Given the description of an element on the screen output the (x, y) to click on. 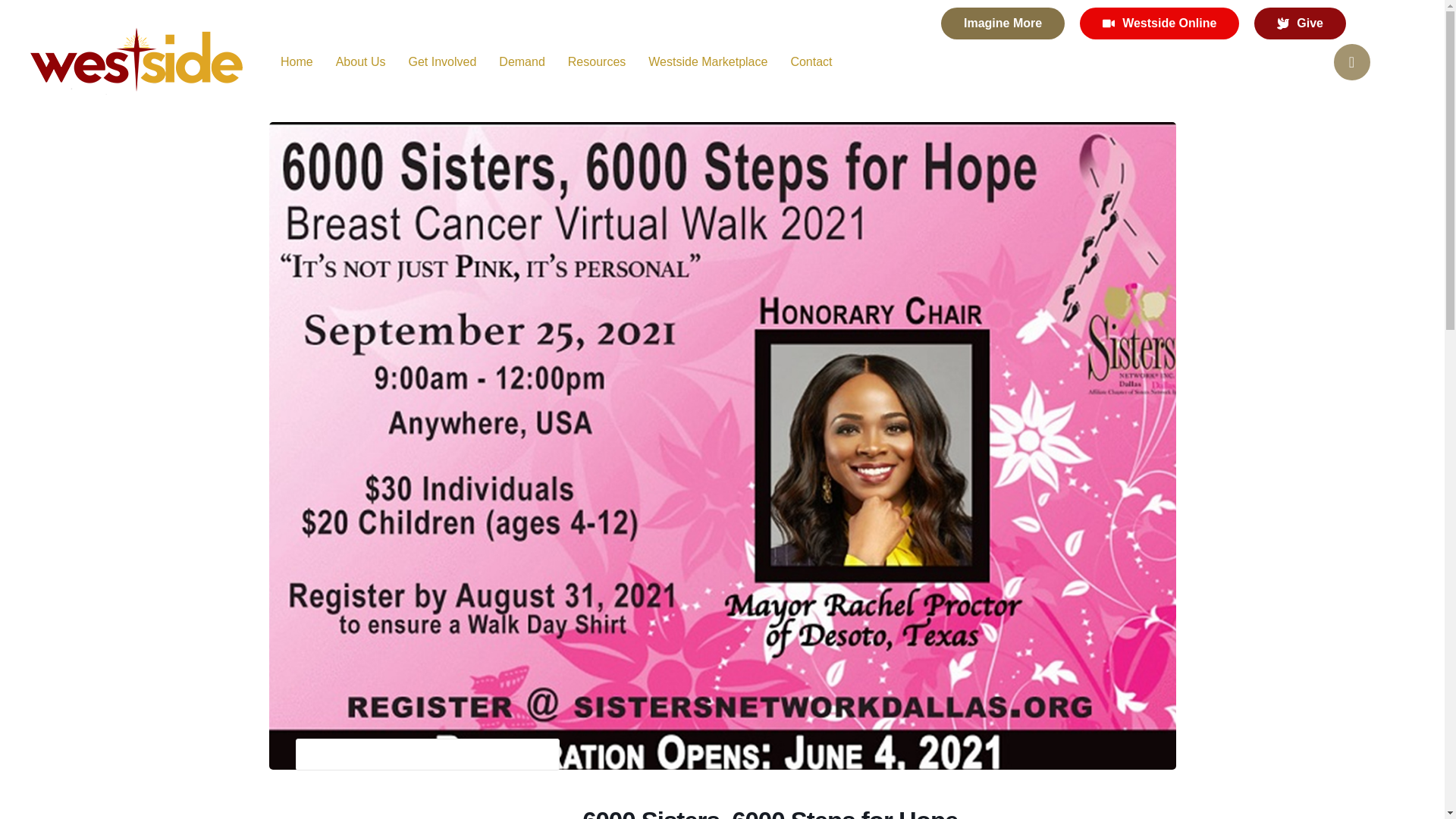
Contact (810, 62)
Click here (1403, 740)
Give (1299, 23)
Imagine More (1002, 23)
Westside Online (1159, 23)
Get Involved (441, 62)
Demand (521, 62)
Westside Marketplace (707, 62)
Westside Baptist Church (136, 61)
Resources (596, 62)
About Us (360, 62)
Home (297, 62)
